Given the description of an element on the screen output the (x, y) to click on. 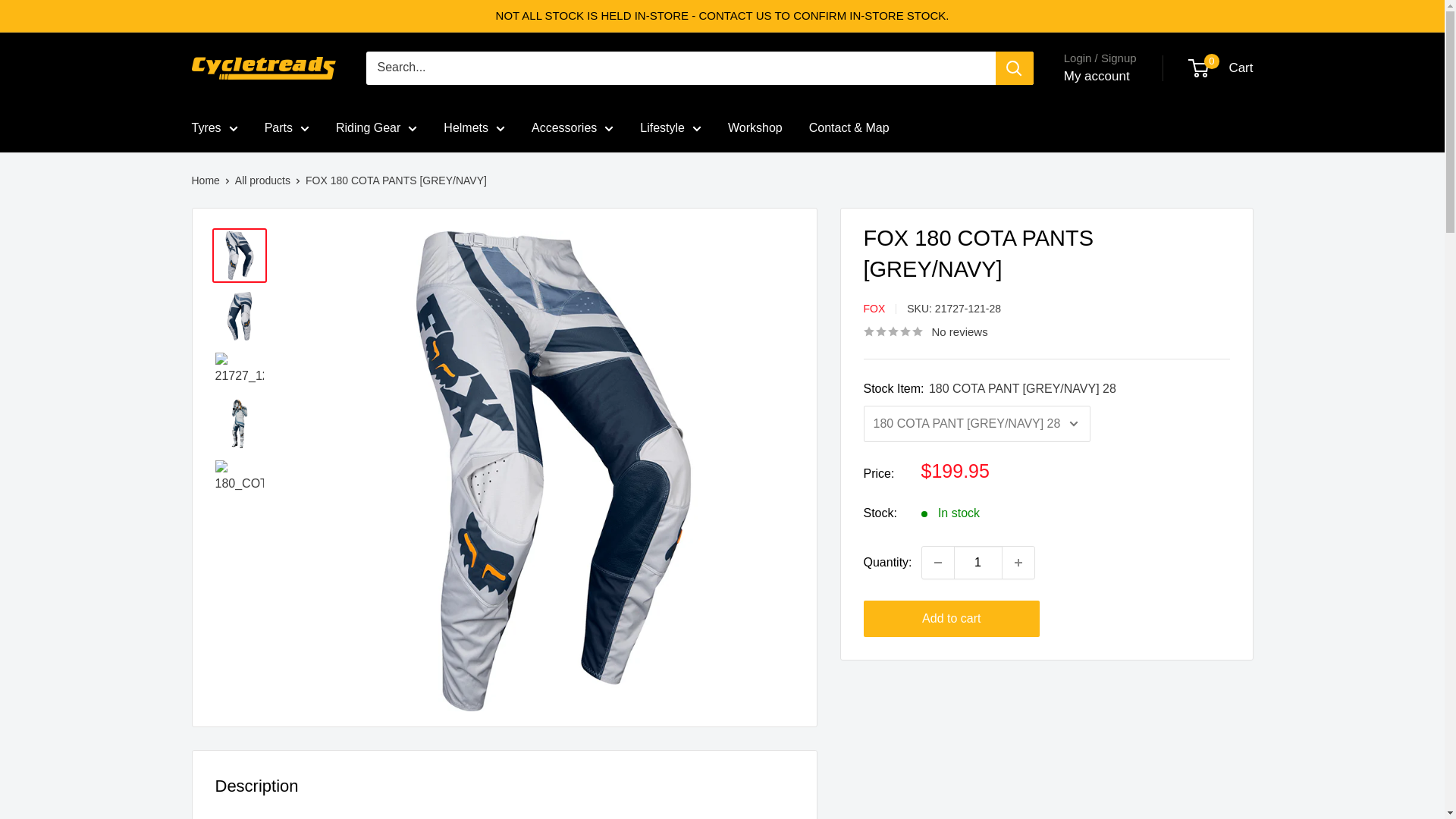
Decrease quantity by 1 (937, 562)
1 (978, 562)
Increase quantity by 1 (1018, 562)
